Given the description of an element on the screen output the (x, y) to click on. 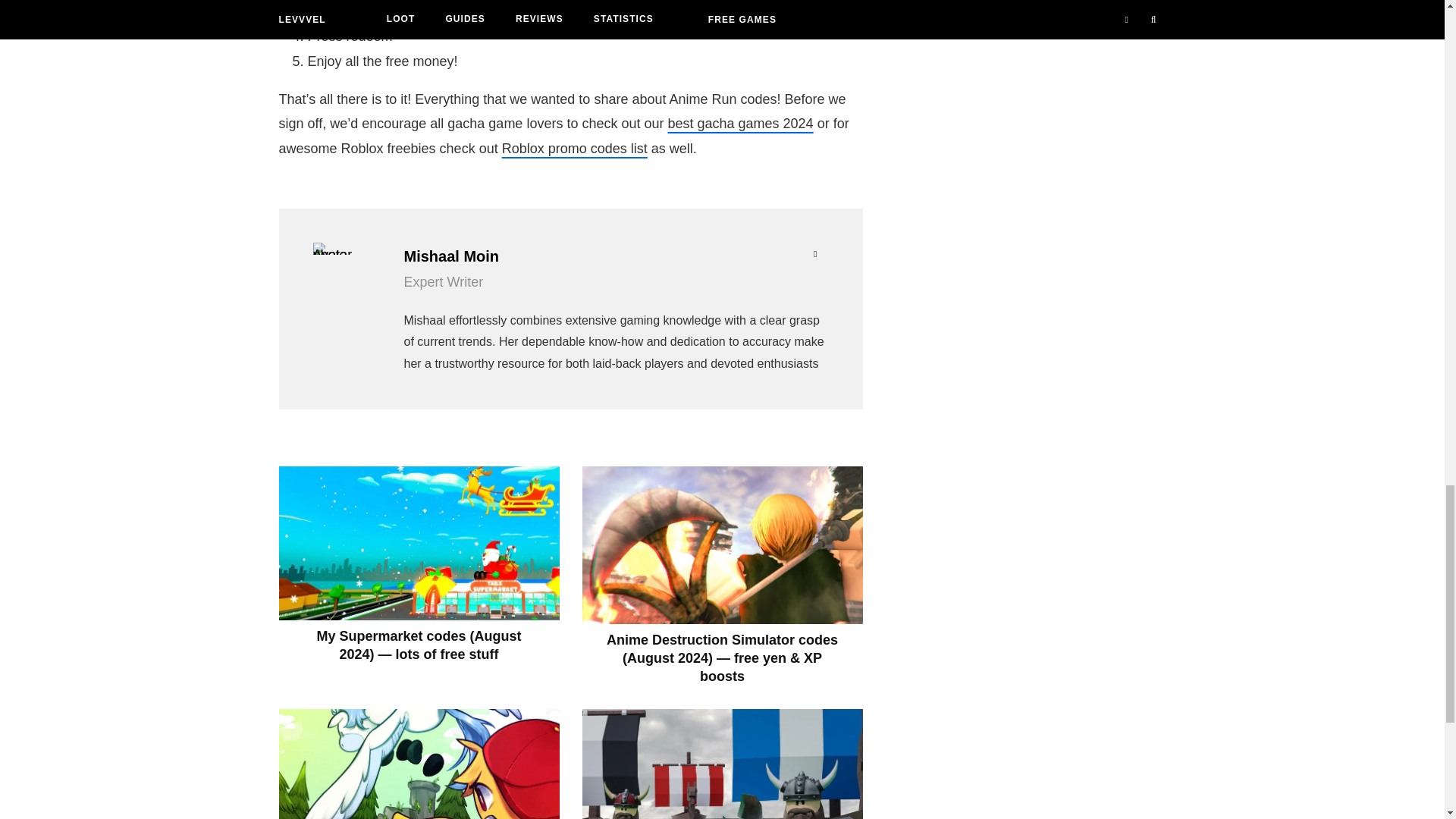
Mishaal Moin (613, 256)
My-Supermarket-codes (419, 542)
Roblox promo codes list (574, 148)
best gacha games 2024 (739, 123)
viking simulator codes (722, 764)
Anime-Destruction-Simulator-codes (722, 545)
Pet-Heroes-codes (419, 764)
